Given the description of an element on the screen output the (x, y) to click on. 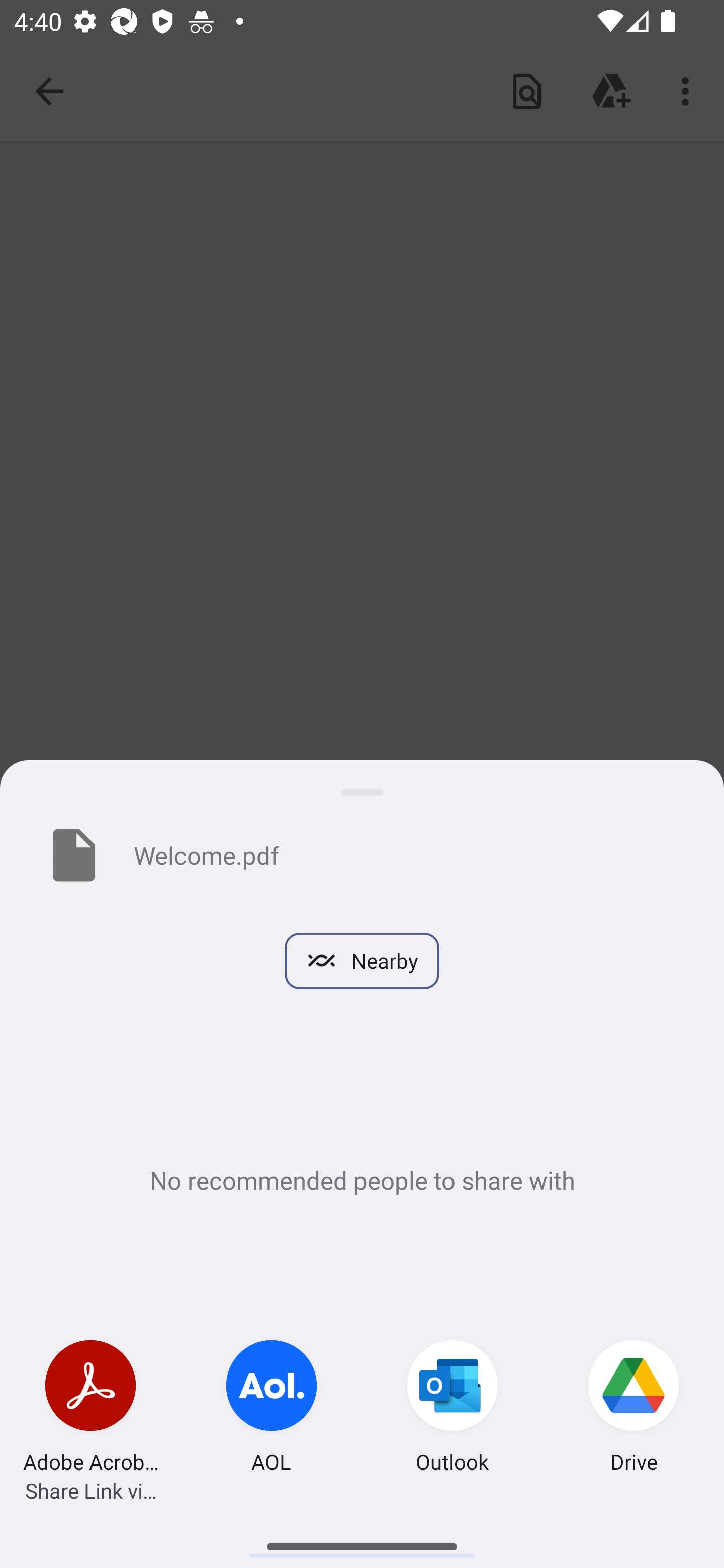
Nearby (361, 960)
Adobe Acrobat Share Link via Acrobat (90, 1409)
AOL (271, 1409)
Outlook (452, 1409)
Drive (633, 1409)
